Given the description of an element on the screen output the (x, y) to click on. 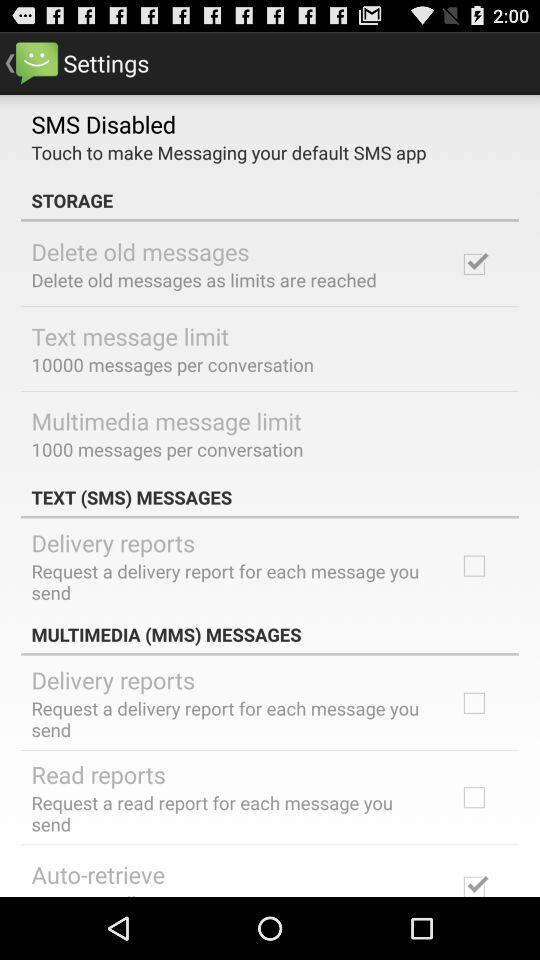
select automatically retrieve messages icon (164, 893)
